Given the description of an element on the screen output the (x, y) to click on. 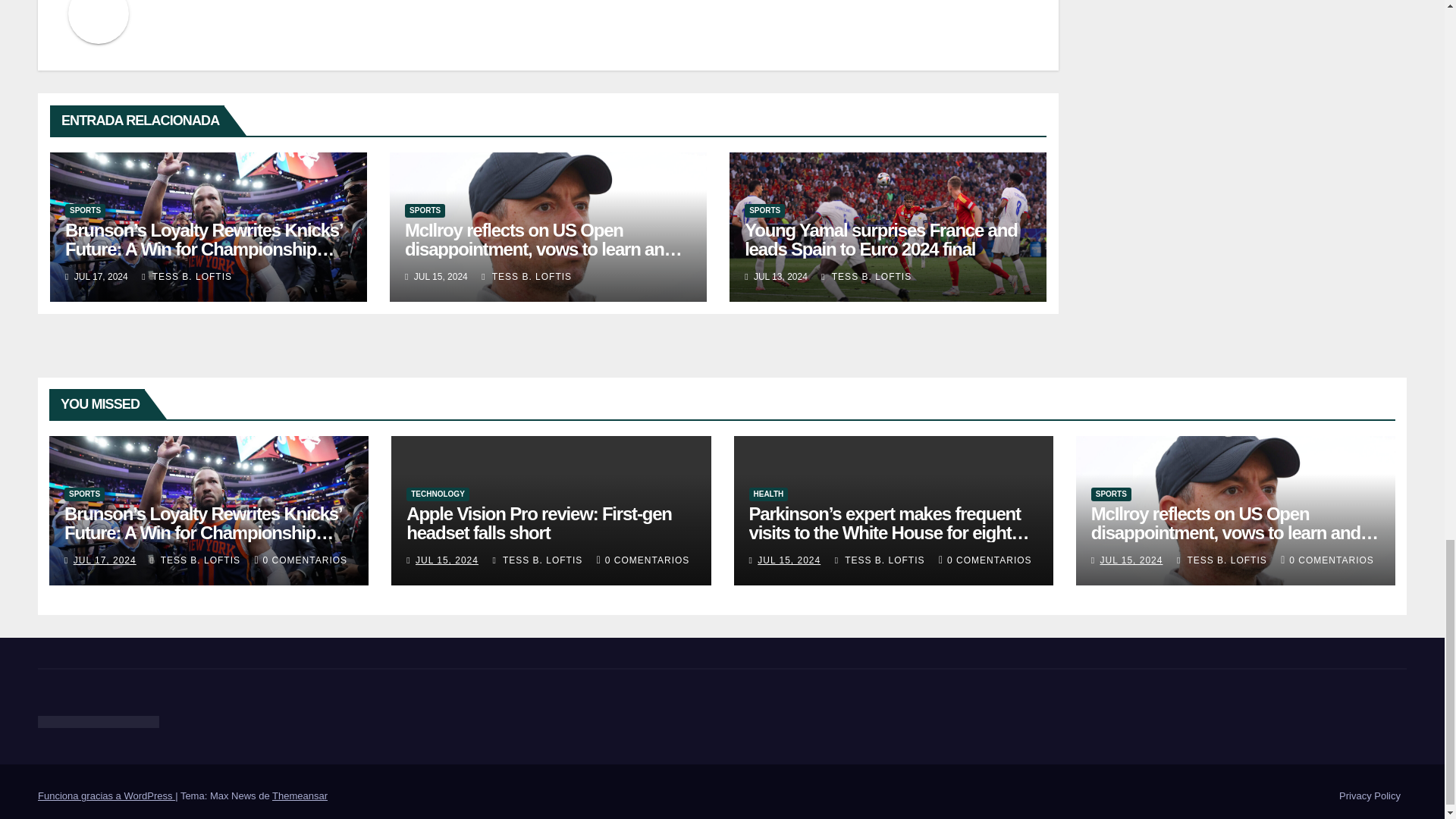
TESS B. LOFTIS (866, 276)
SPORTS (84, 210)
TESS B. LOFTIS (526, 276)
SPORTS (424, 210)
TESS B. LOFTIS (186, 276)
Privacy Policy (1369, 795)
SPORTS (764, 210)
